Given the description of an element on the screen output the (x, y) to click on. 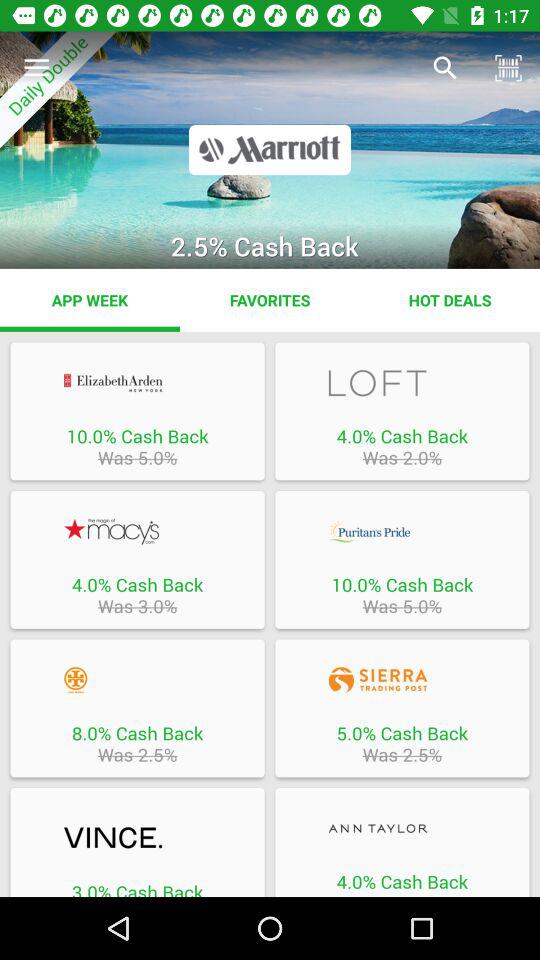
view this deal (402, 679)
